Given the description of an element on the screen output the (x, y) to click on. 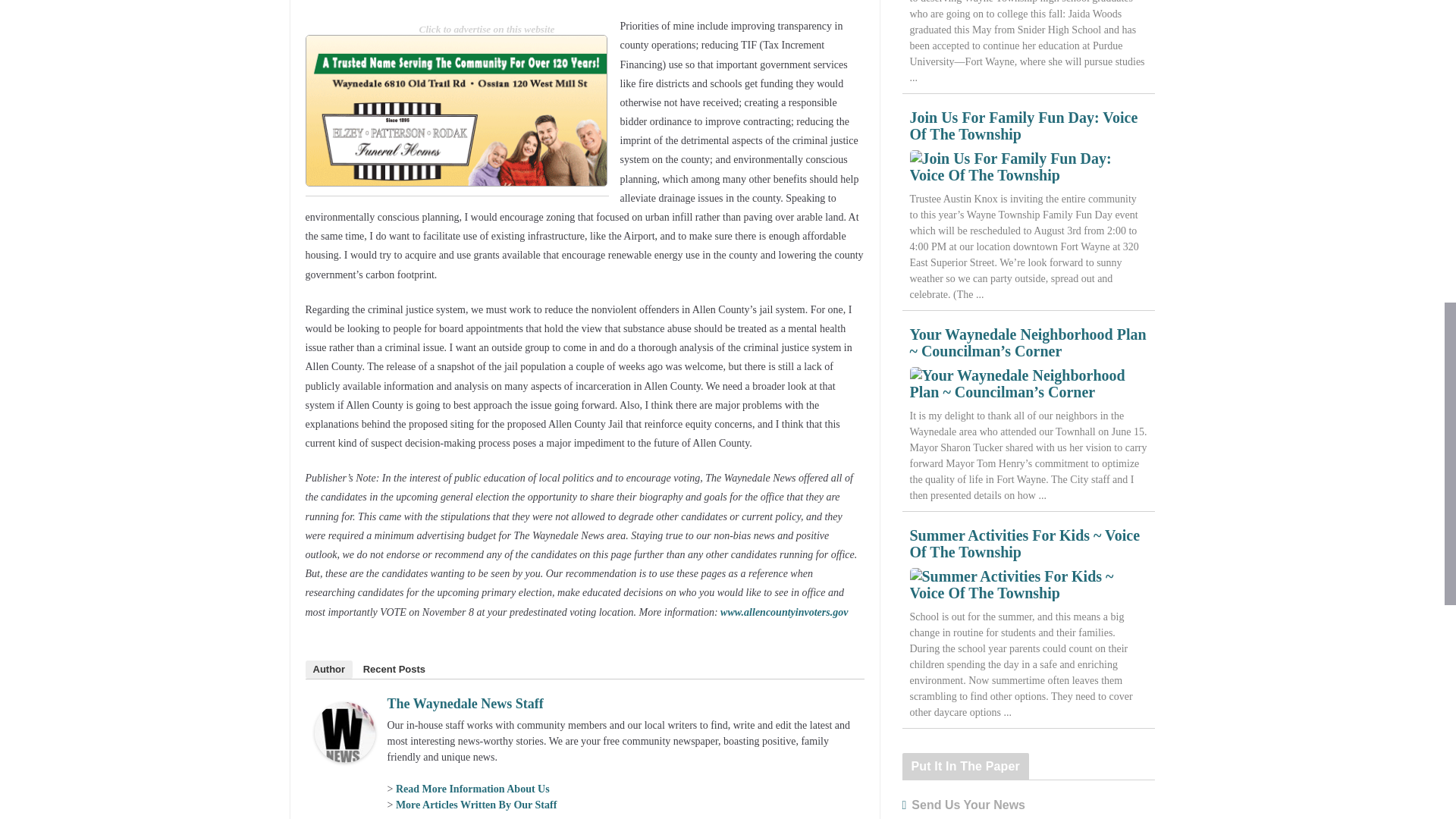
Author (328, 669)
The Waynedale News Staff (465, 703)
Click to advertise on this website (486, 29)
www.allencountyinvoters.gov (783, 612)
Recent Posts (393, 669)
Read More Information About Us (473, 788)
Join Us For Family Fun Day: Voice Of The Township (1028, 166)
More Articles Written By Our Staff (476, 804)
